Given the description of an element on the screen output the (x, y) to click on. 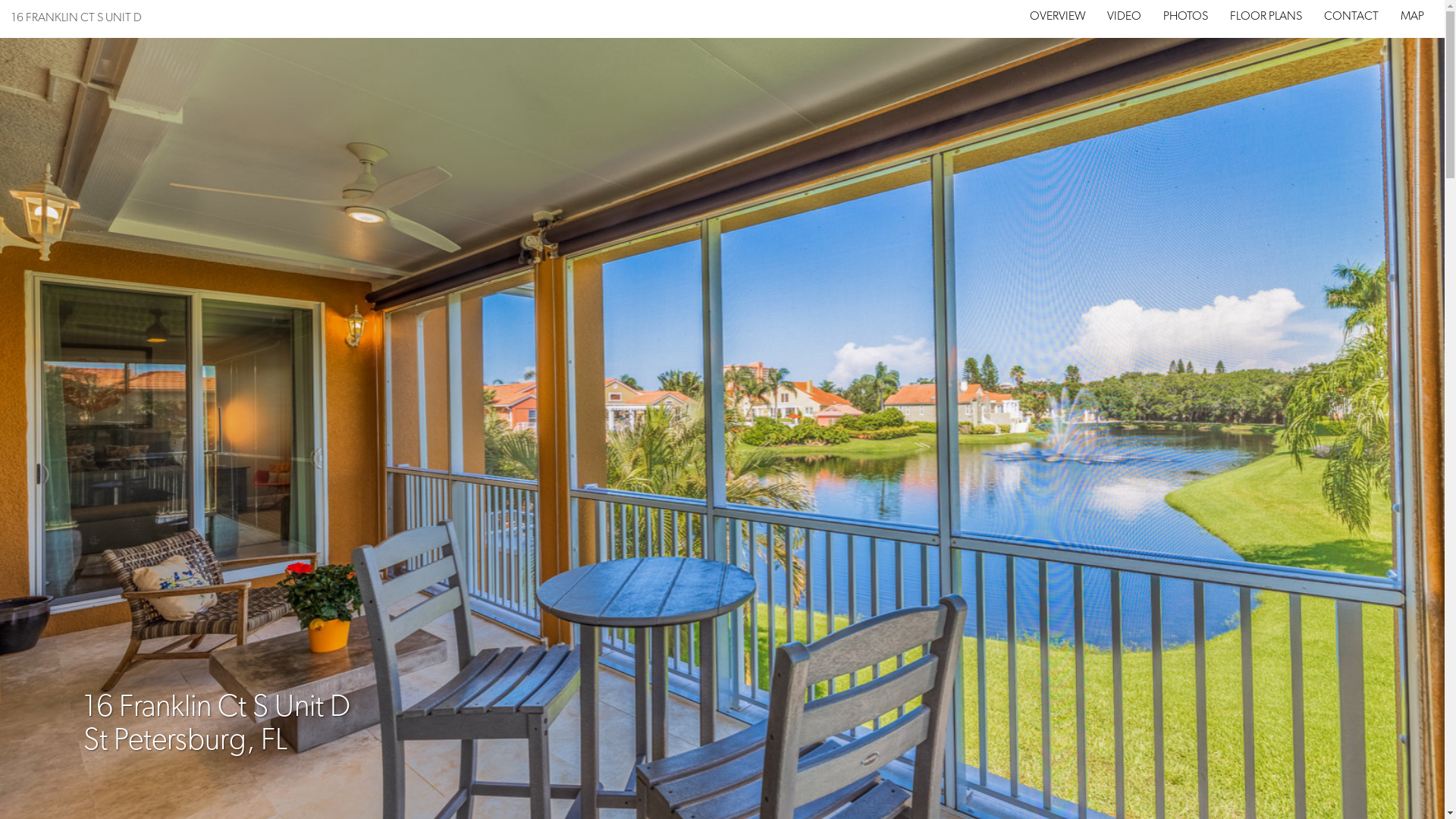
MAP Element type: text (1412, 16)
FLOOR PLANS Element type: text (1266, 16)
CONTACT Element type: text (1351, 16)
OVERVIEW Element type: text (1057, 16)
VIDEO Element type: text (1124, 16)
PHOTOS Element type: text (1185, 16)
